Given the description of an element on the screen output the (x, y) to click on. 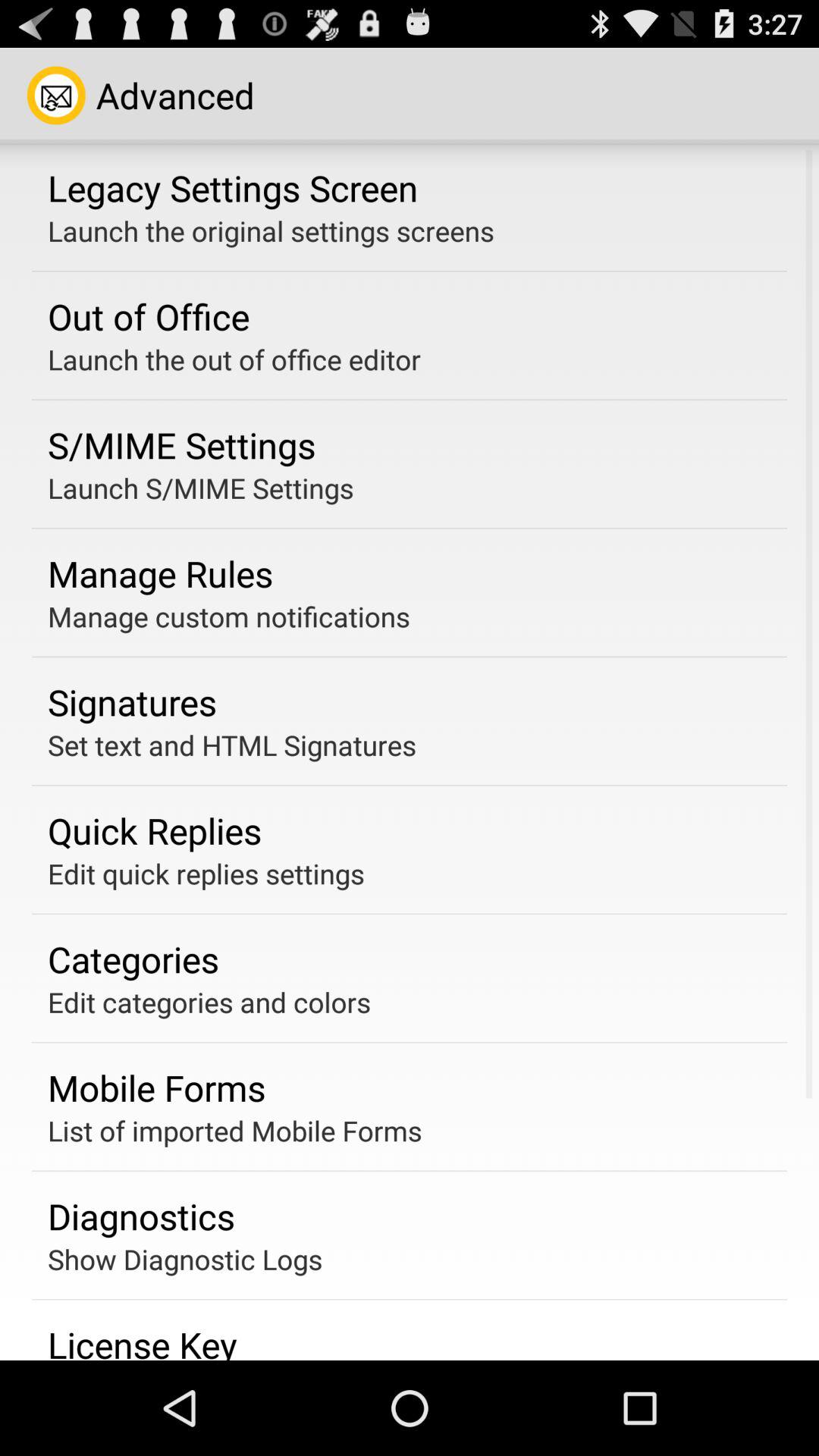
press the show diagnostic logs app (184, 1258)
